Given the description of an element on the screen output the (x, y) to click on. 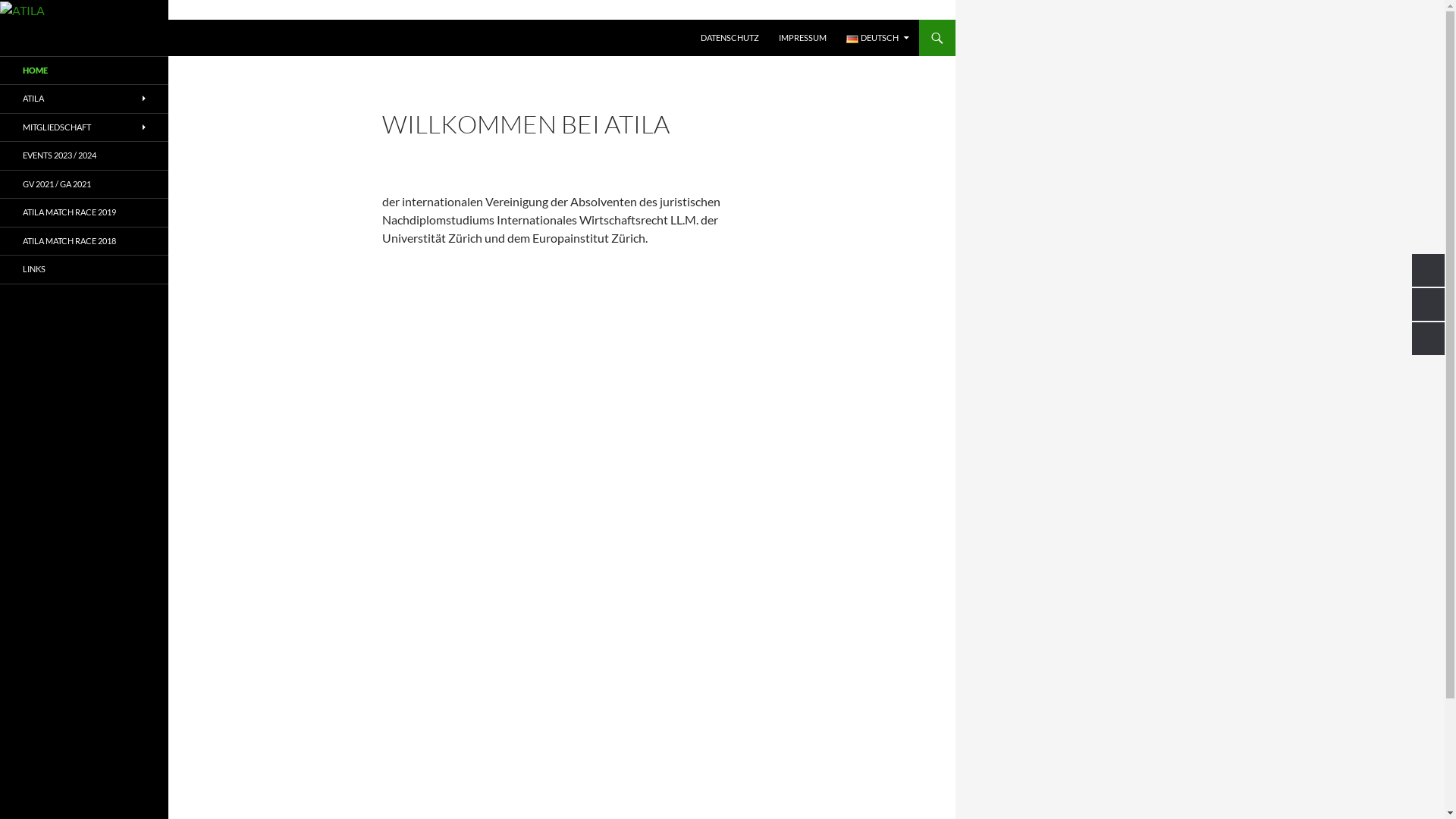
ATILA Element type: text (84, 98)
HOME Element type: text (84, 70)
DATENSCHUTZ Element type: text (729, 37)
ATILA MATCH RACE 2019 Element type: text (84, 212)
IMPRESSUM Element type: text (802, 37)
ATILA MATCH RACE 2018 Element type: text (84, 241)
EVENTS 2023 / 2024 Element type: text (84, 155)
DEUTSCH Element type: text (877, 37)
Suchen Element type: text (3, 19)
SPRINGE ZUM INHALT Element type: text (700, 19)
MITGLIEDSCHAFT Element type: text (84, 127)
ATILA Element type: text (41, 37)
LINKS Element type: text (84, 269)
GV 2021 / GA 2021 Element type: text (84, 184)
